Given the description of an element on the screen output the (x, y) to click on. 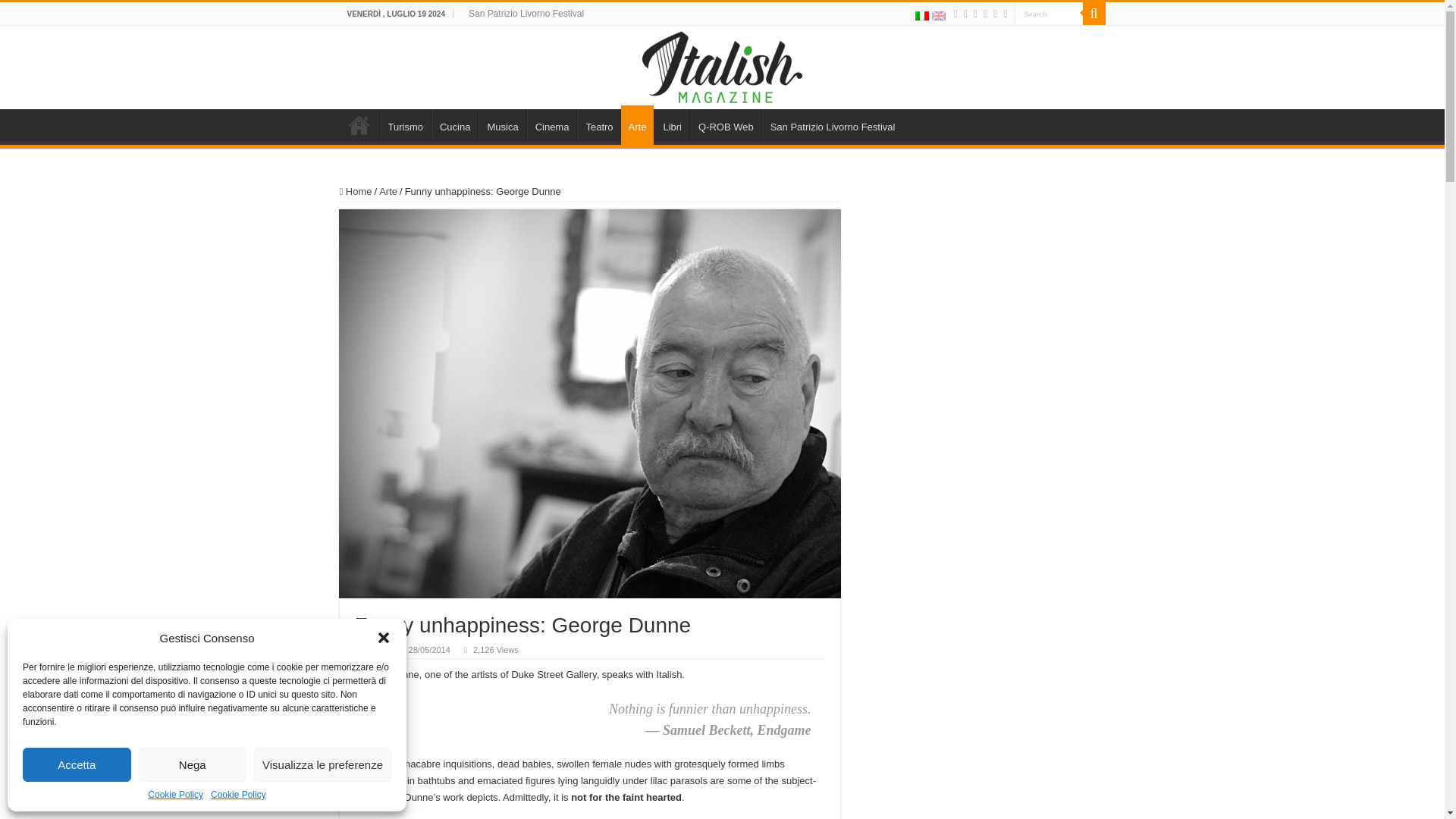
Search (1048, 13)
San Patrizio Livorno Festival (526, 13)
Nega (192, 764)
Visualizza le preferenze (322, 764)
Cookie Policy (238, 794)
Search (1094, 13)
Accetta (77, 764)
Cookie Policy (175, 794)
Search (1048, 13)
Search (1048, 13)
